Given the description of an element on the screen output the (x, y) to click on. 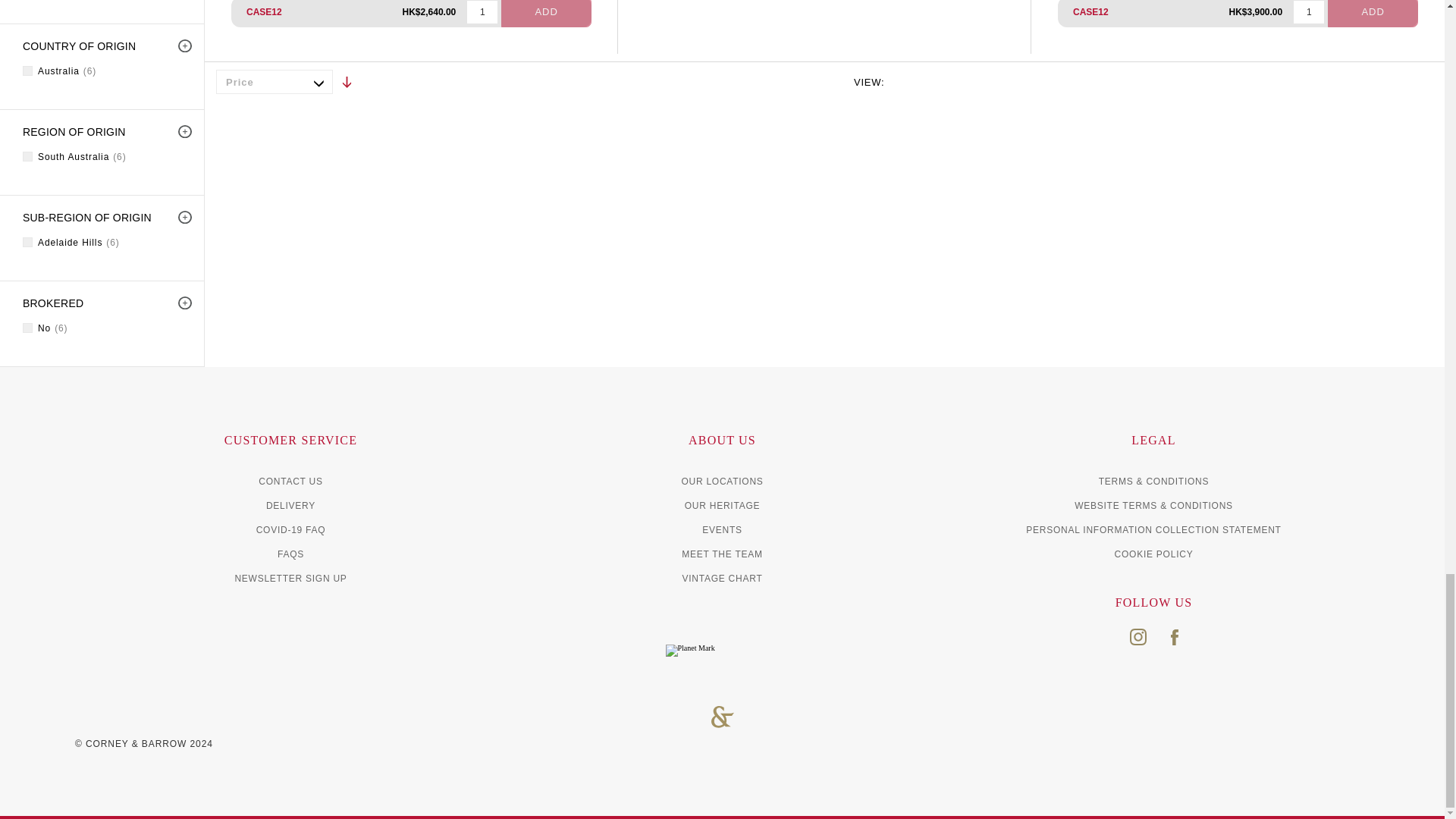
1 (482, 11)
Quantity (482, 11)
1 (1308, 11)
Add (545, 13)
